Given the description of an element on the screen output the (x, y) to click on. 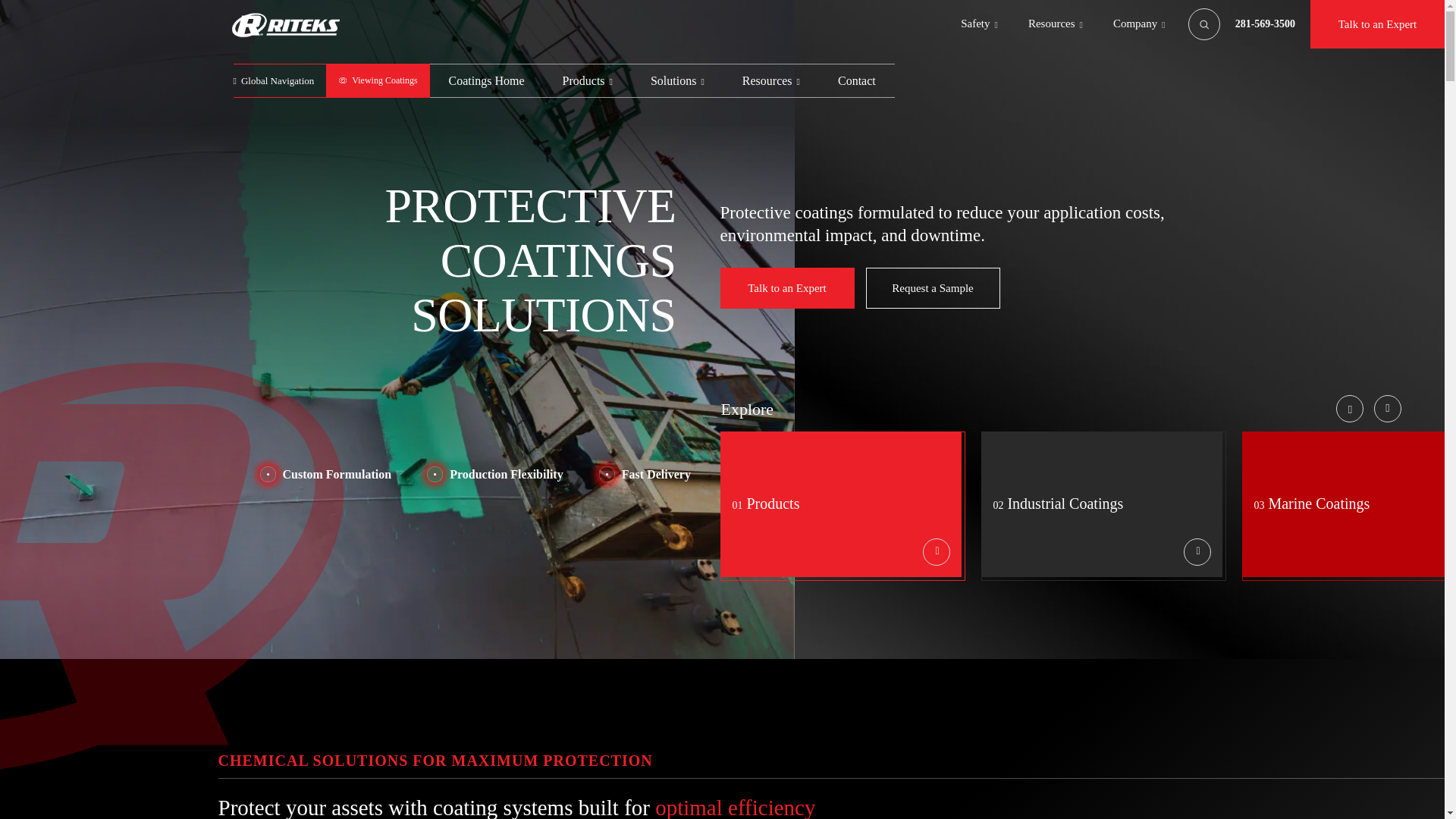
Coatings Home (486, 80)
Safety (978, 23)
Global Navigation (279, 80)
281-569-3500 (1264, 23)
Request a Sample (933, 287)
Contact (856, 80)
Viewing Coatings (377, 80)
Resources (1055, 23)
Previous (1349, 408)
Products (587, 80)
Resources (770, 80)
Company (1138, 23)
Solutions (677, 80)
Talk to an Expert (787, 287)
